Given the description of an element on the screen output the (x, y) to click on. 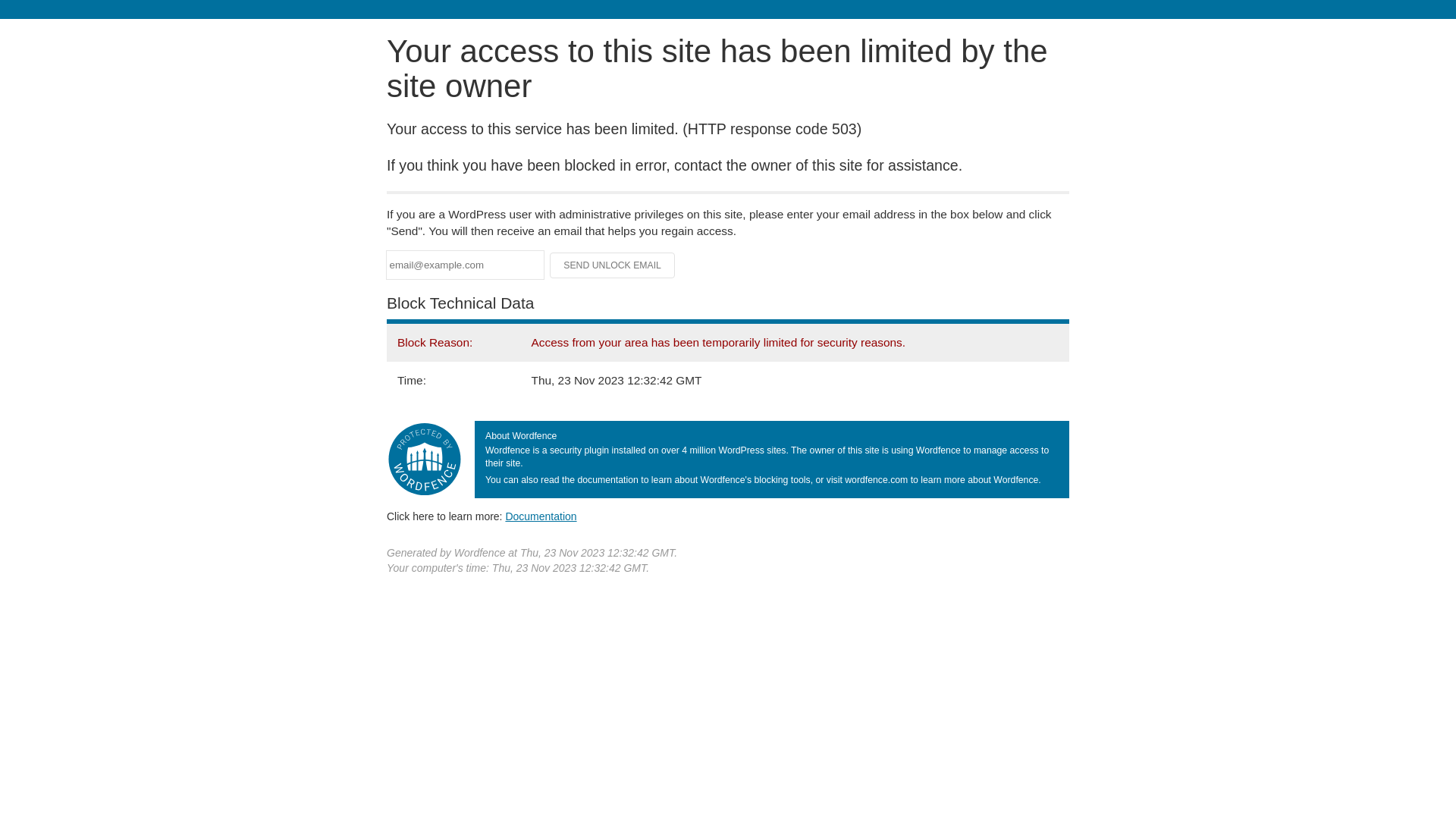
Documentation Element type: text (540, 516)
Send Unlock Email Element type: text (612, 265)
